Given the description of an element on the screen output the (x, y) to click on. 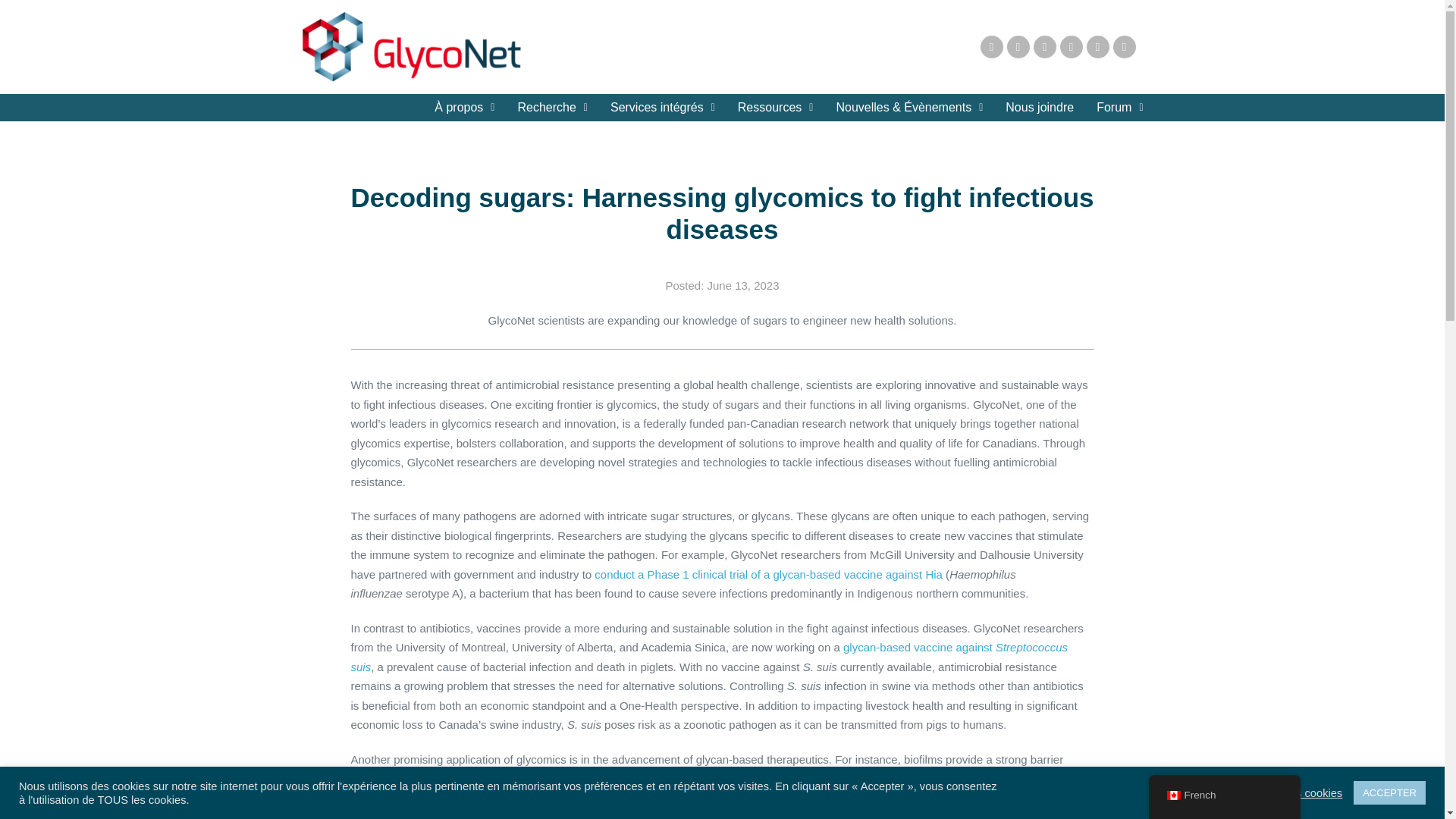
Ressources (775, 107)
Recherche (551, 107)
French (1172, 795)
